Given the description of an element on the screen output the (x, y) to click on. 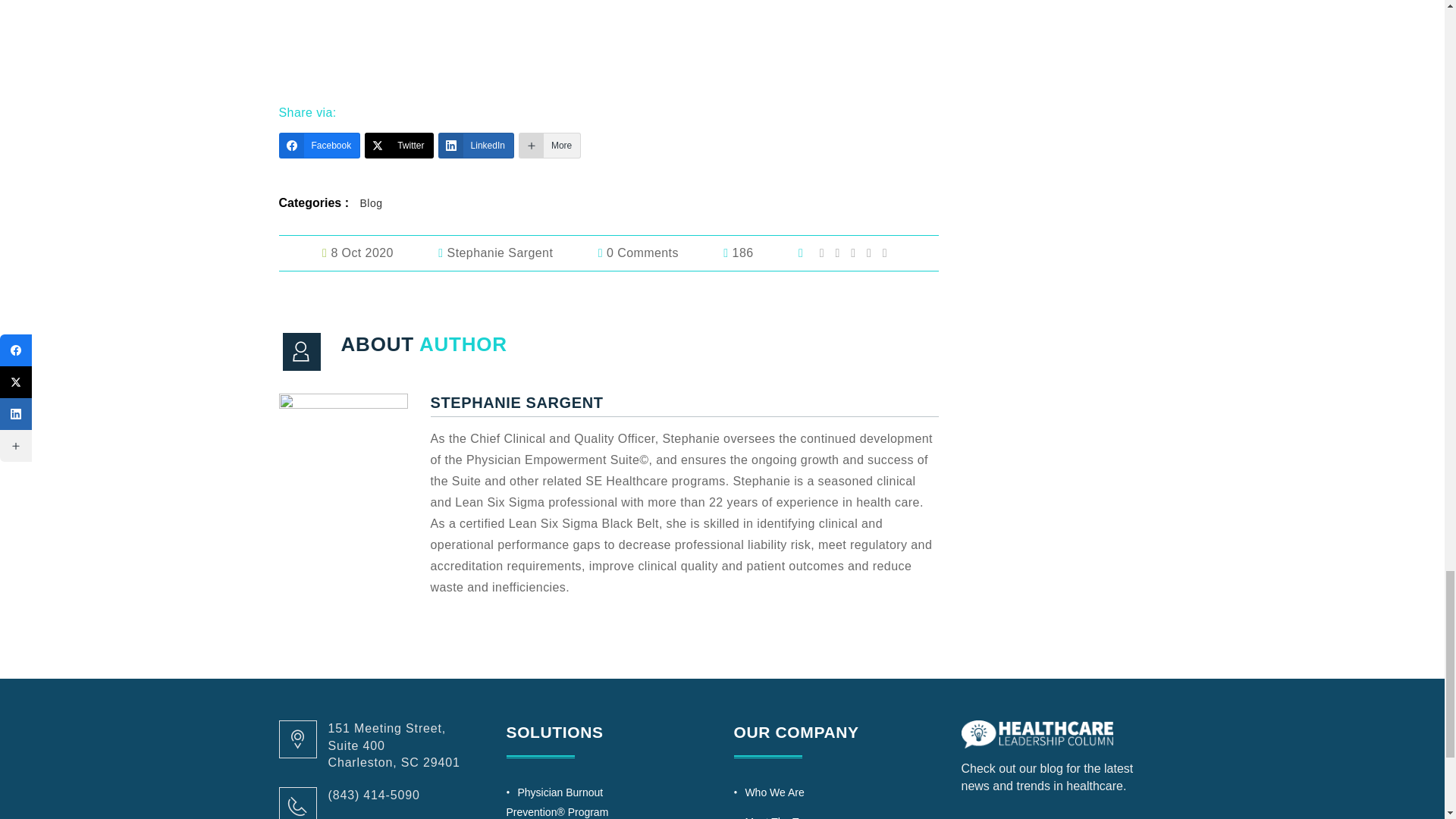
0 Comments (659, 252)
Facebook (320, 145)
Stephanie Sargent (516, 252)
Blog (370, 203)
Stephanie Sargent (516, 252)
LinkedIn (475, 145)
More (549, 145)
Twitter (398, 145)
186 (758, 252)
